Given the description of an element on the screen output the (x, y) to click on. 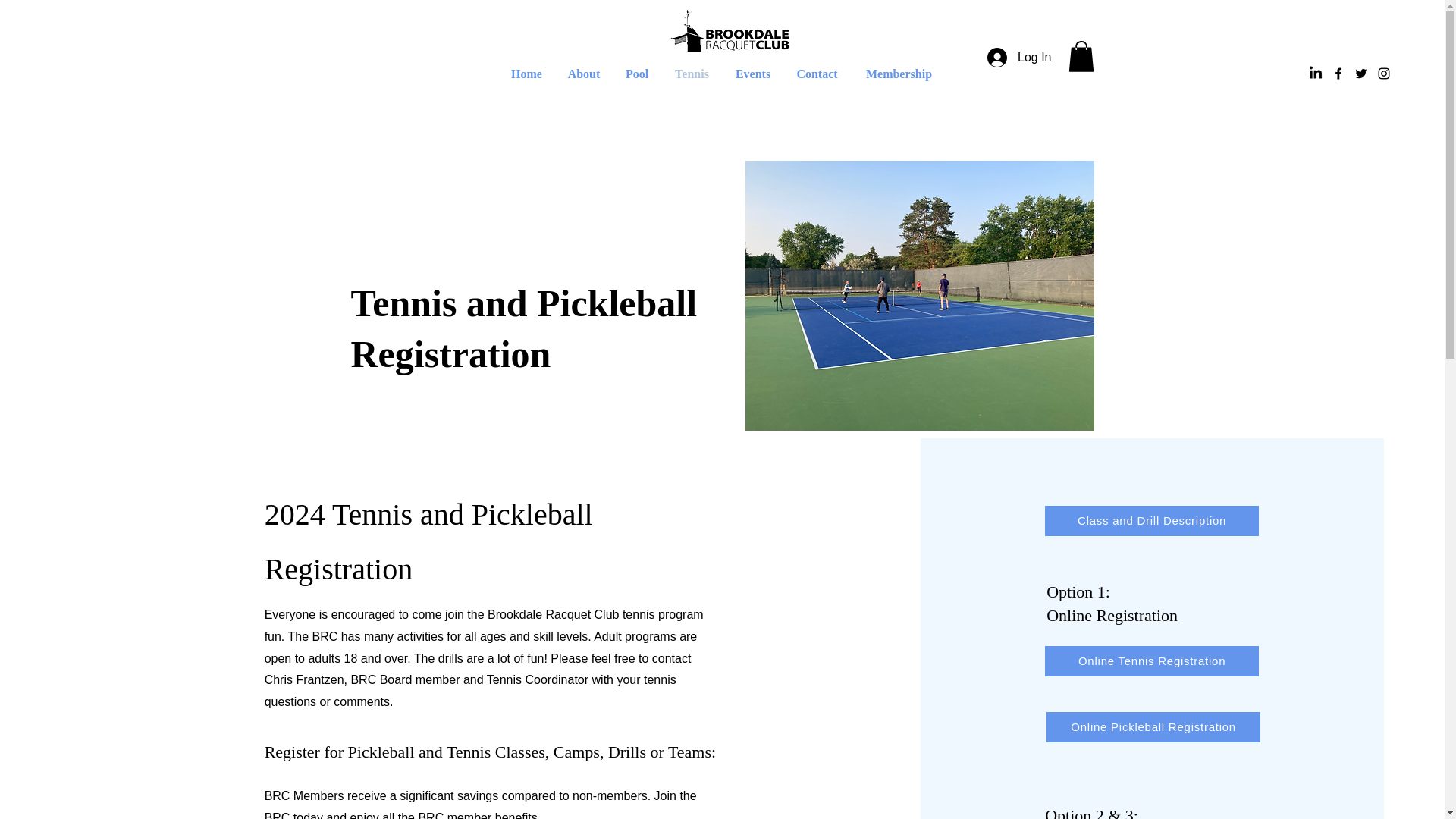
Contact (816, 74)
Log In (1018, 57)
Membership (898, 74)
Online Tennis Registration (1152, 661)
Events (752, 74)
About (583, 74)
Home (525, 74)
Online Pickleball Registration (1153, 726)
Pool (636, 74)
Class and Drill Description (1152, 521)
Tennis (691, 74)
